Given the description of an element on the screen output the (x, y) to click on. 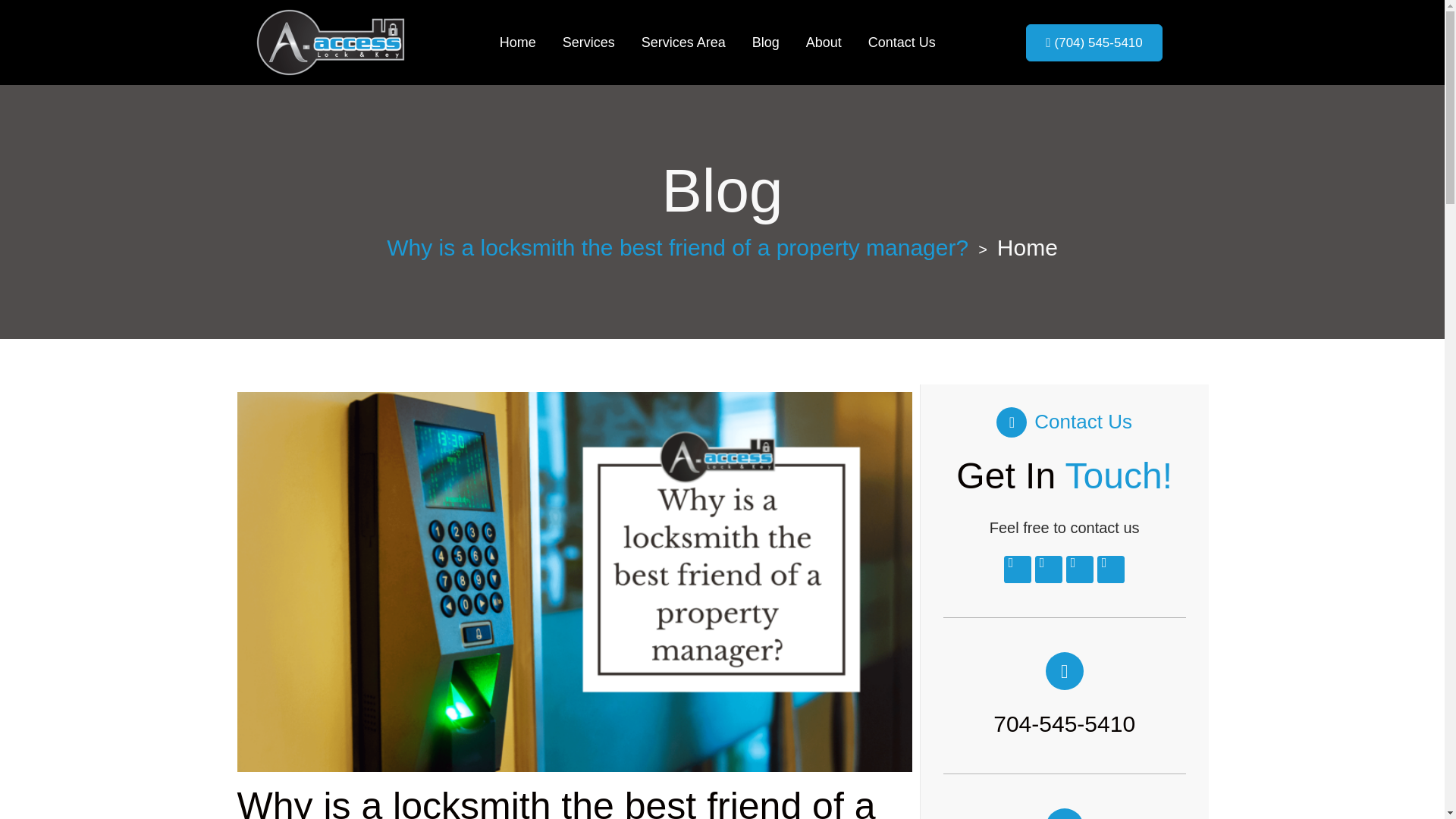
Contact Us (901, 42)
Home (1027, 247)
Why is a locksmith the best friend of a property manager? (677, 247)
Home (517, 42)
Services (588, 42)
Services Area (683, 42)
About (823, 42)
